Given the description of an element on the screen output the (x, y) to click on. 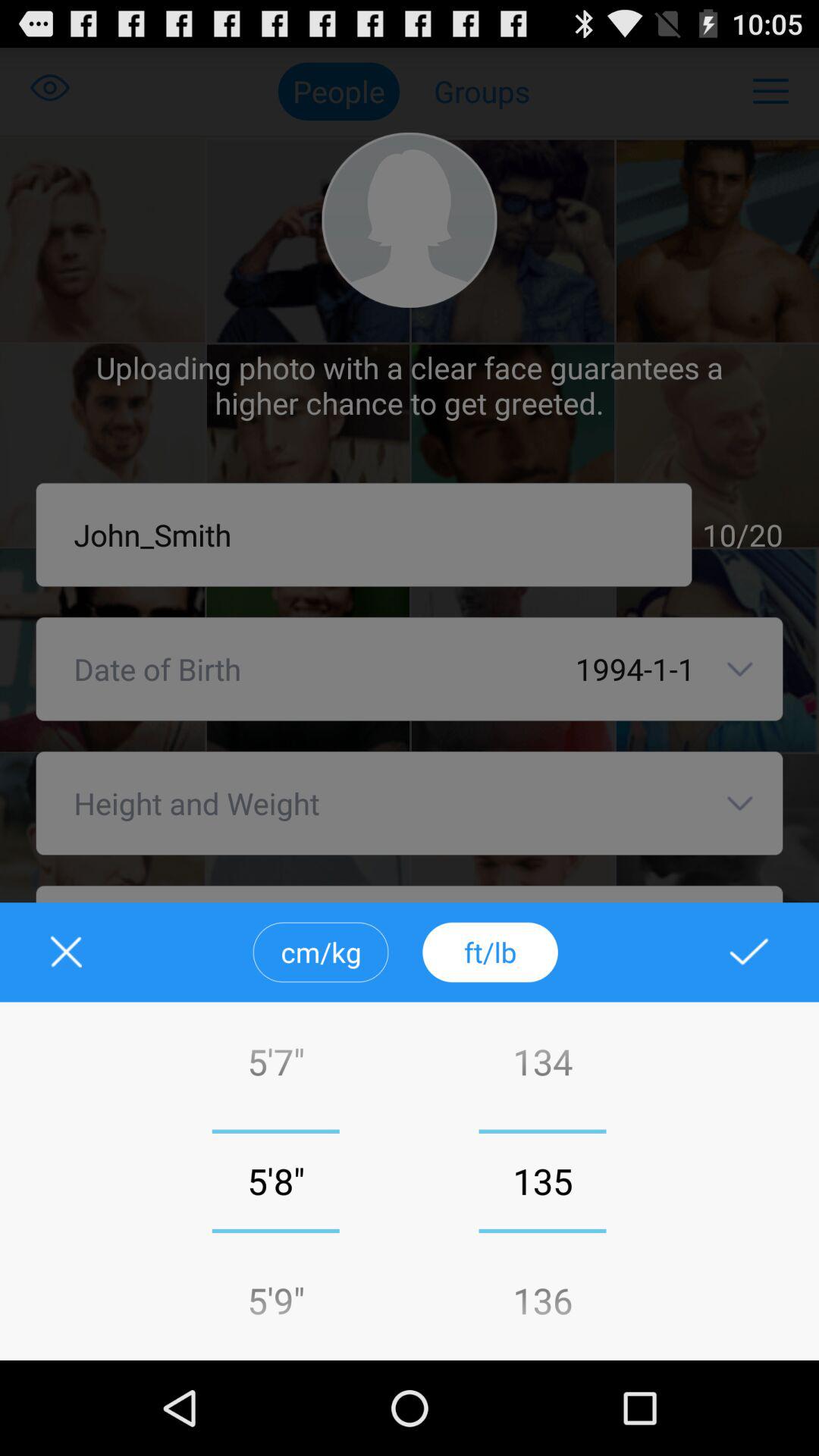
go to closed (75, 952)
